Given the description of an element on the screen output the (x, y) to click on. 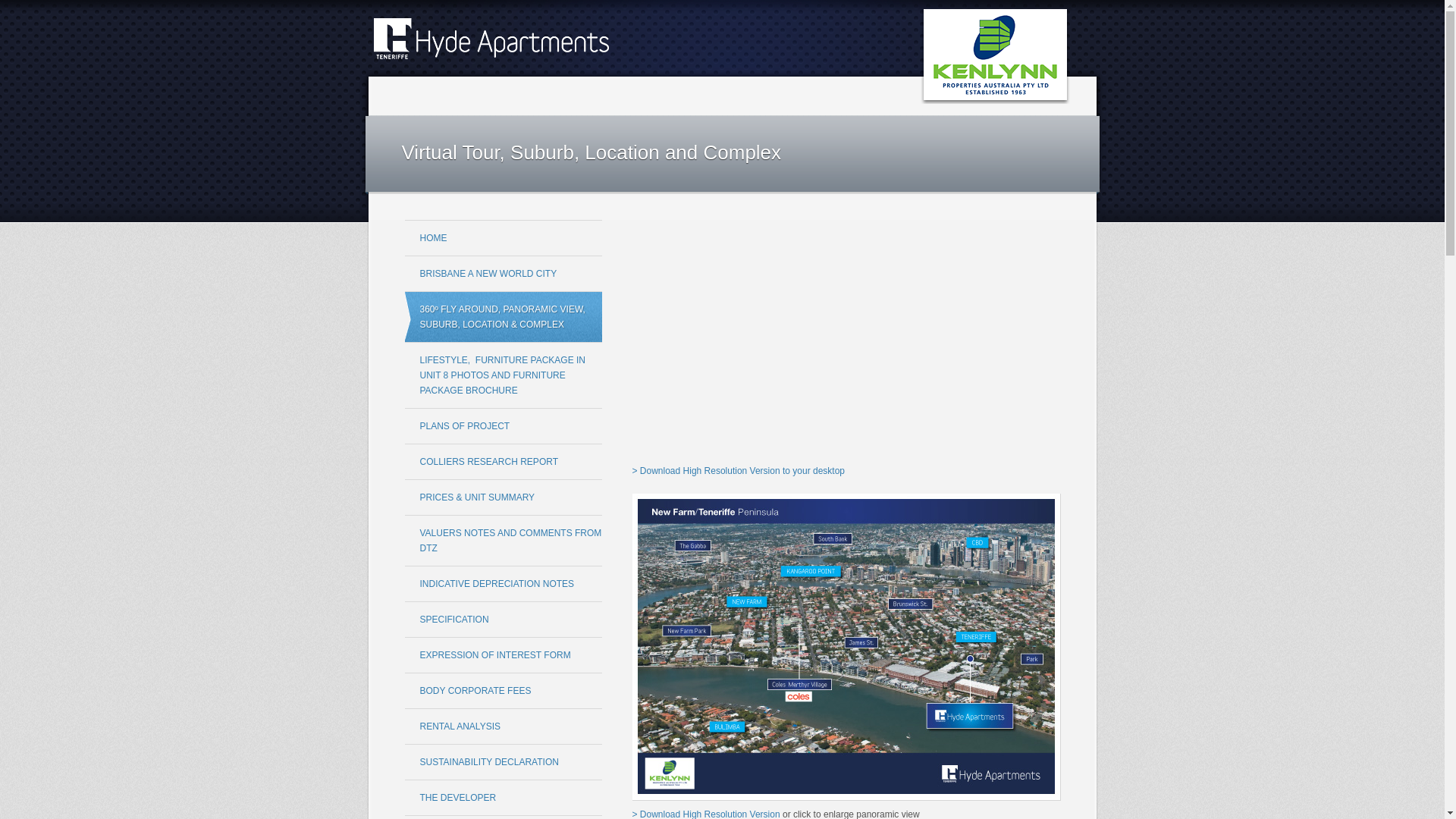
HOME Element type: text (503, 238)
SPECIFICATION Element type: text (503, 619)
PRICES & UNIT SUMMARY Element type: text (503, 497)
PLANS OF PROJECT Element type: text (503, 426)
RENTAL ANALYSIS Element type: text (503, 726)
VALUERS NOTES AND COMMENTS FROM DTZ Element type: text (503, 540)
INDICATIVE DEPRECIATION NOTES Element type: text (503, 584)
> Download High Resolution Version to your desktop Element type: text (738, 470)
Hyde Apartments Teneriffe Element type: text (731, 56)
BODY CORPORATE FEES Element type: text (503, 691)
SUSTAINABILITY DECLARATION Element type: text (503, 762)
EXPRESSION OF INTEREST FORM Element type: text (503, 655)
BRISBANE A NEW WORLD CITY Element type: text (503, 273)
THE DEVELOPER Element type: text (503, 797)
COLLIERS RESEARCH REPORT Element type: text (503, 462)
